Given the description of an element on the screen output the (x, y) to click on. 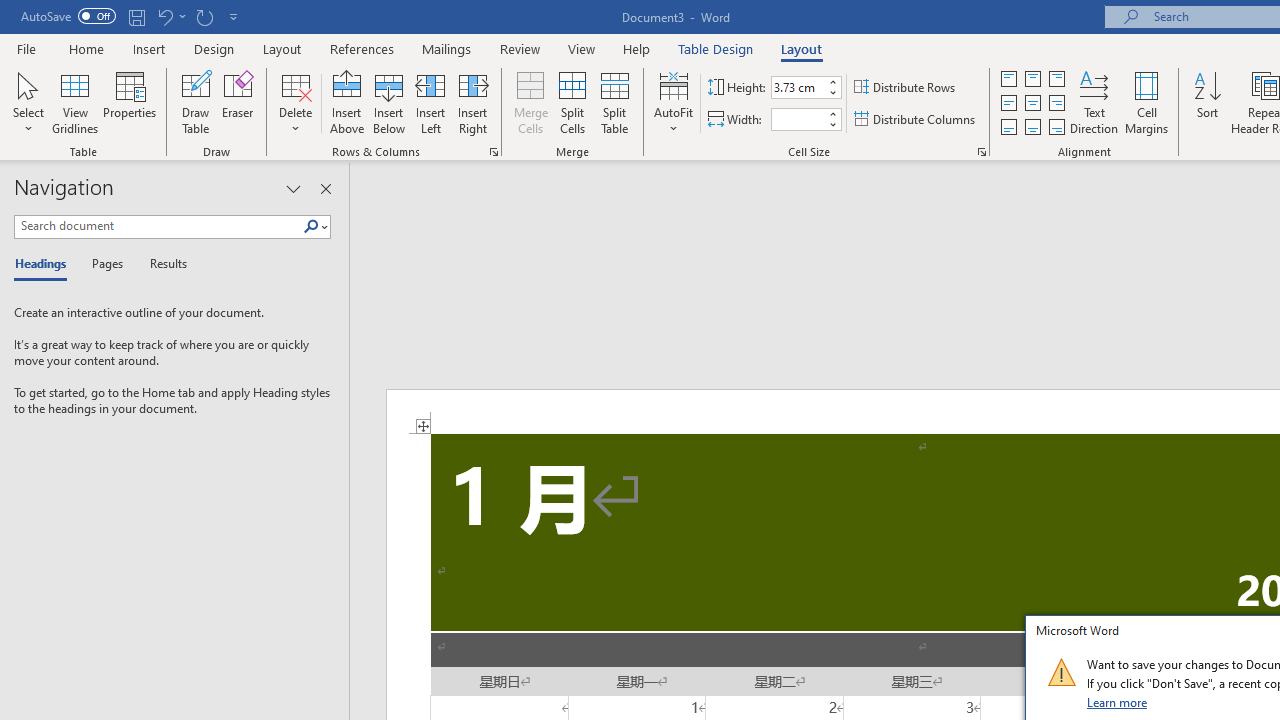
System (10, 11)
Align Bottom Justified (1009, 126)
Insert Right (472, 102)
Align Center Justified (1009, 103)
Mailings (447, 48)
Insert Above (347, 102)
Sort... (1207, 102)
Repeat Doc Close (204, 15)
Draw Table (196, 102)
View (582, 48)
Split Cells... (572, 102)
Table Column Width (797, 119)
Class: NetUIImage (1061, 671)
Insert Cells... (493, 151)
Search document (157, 226)
